Given the description of an element on the screen output the (x, y) to click on. 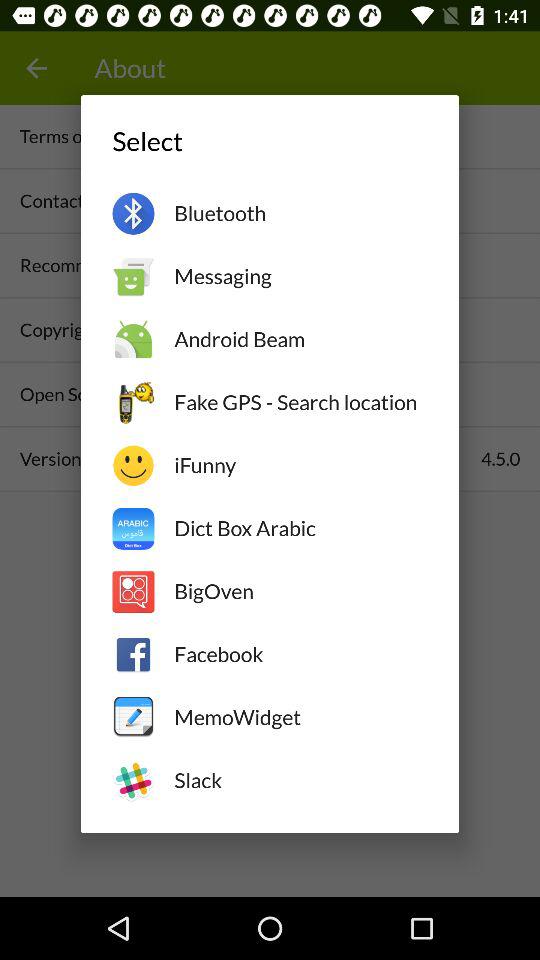
flip to the facebook icon (300, 654)
